Given the description of an element on the screen output the (x, y) to click on. 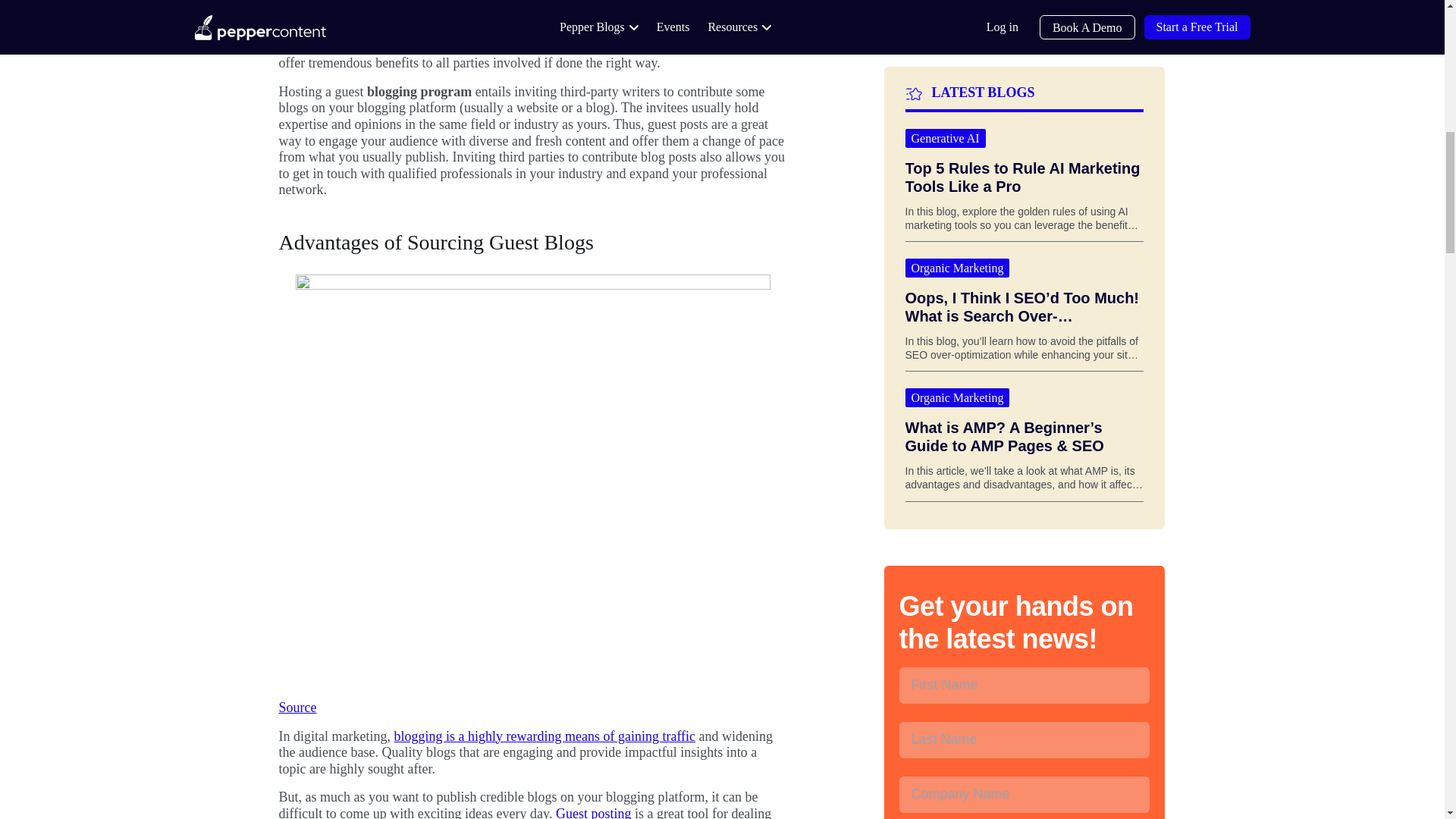
Source (298, 707)
guest blogging (488, 29)
Guest posting (593, 812)
blogging is a highly rewarding means of gaining traffic (544, 735)
Subscribe to Newsletter (1024, 708)
